Given the description of an element on the screen output the (x, y) to click on. 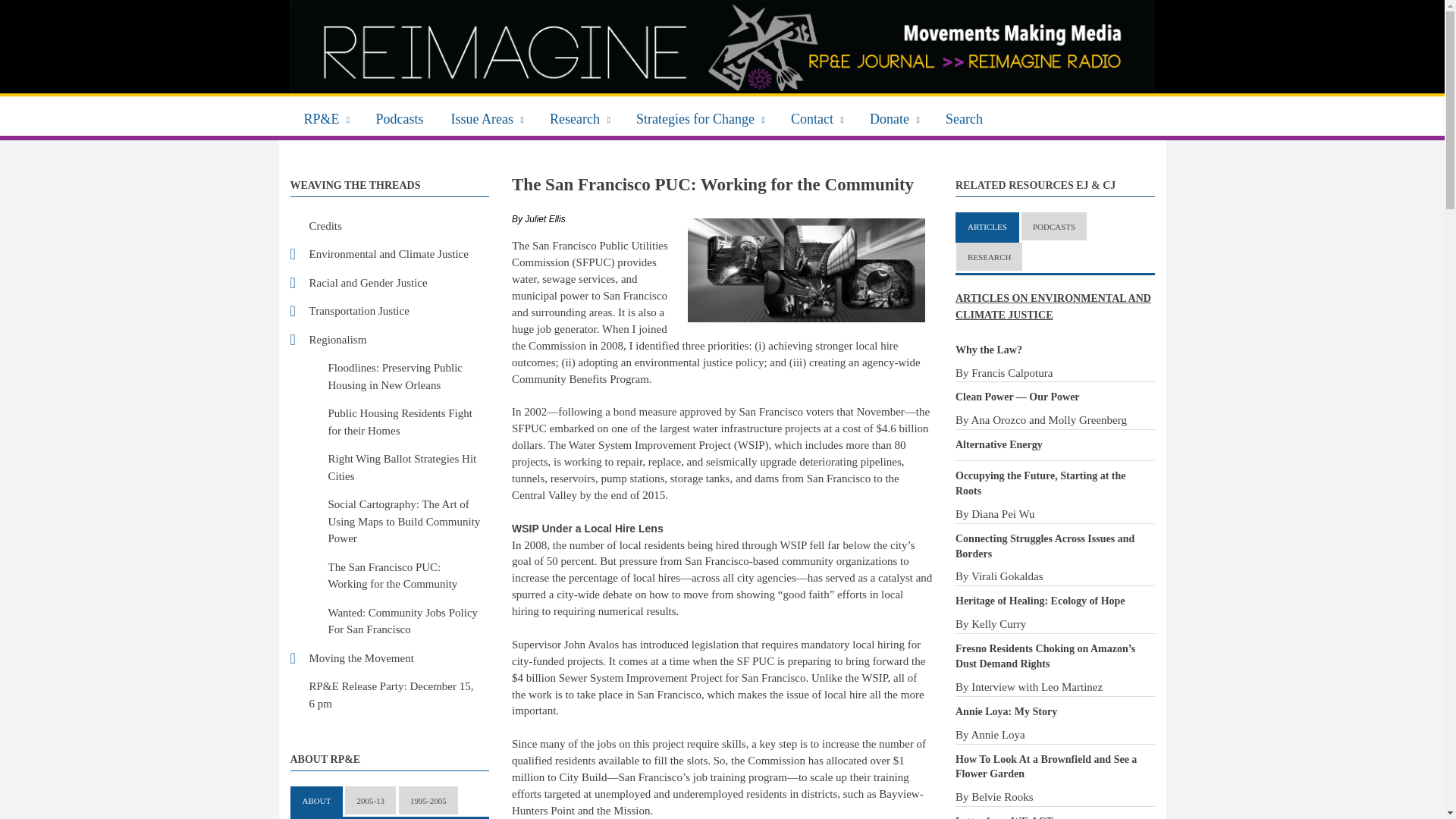
Home (721, 45)
Strategies for Change (700, 117)
Research (579, 117)
Issue Areas (486, 117)
Podcasts (400, 117)
